Given the description of an element on the screen output the (x, y) to click on. 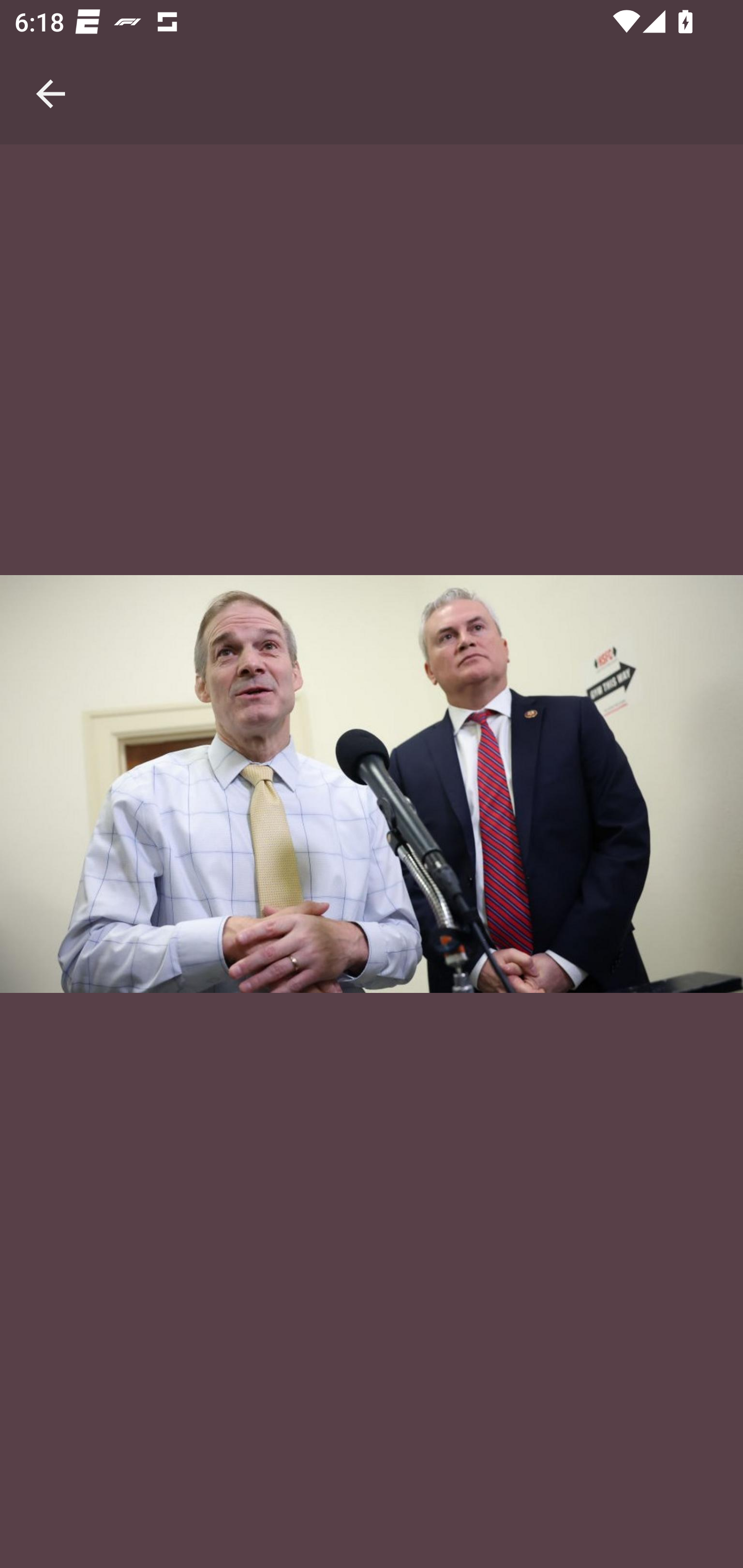
Back (50, 72)
